Given the description of an element on the screen output the (x, y) to click on. 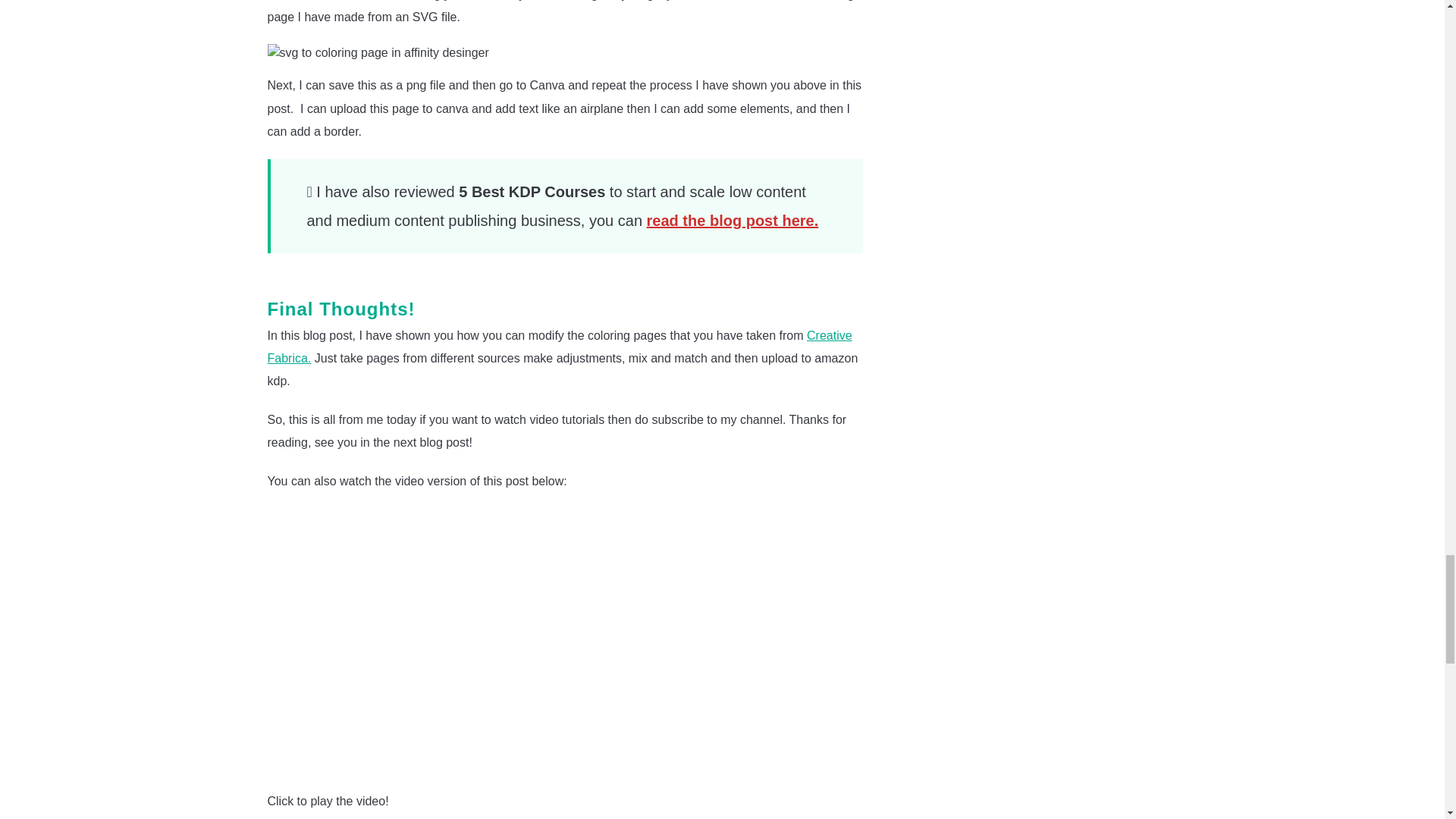
Creative Fabrica. (558, 346)
read the blog post here. (732, 220)
Get a FREE Trial from Creative Fabrica (558, 346)
